Given the description of an element on the screen output the (x, y) to click on. 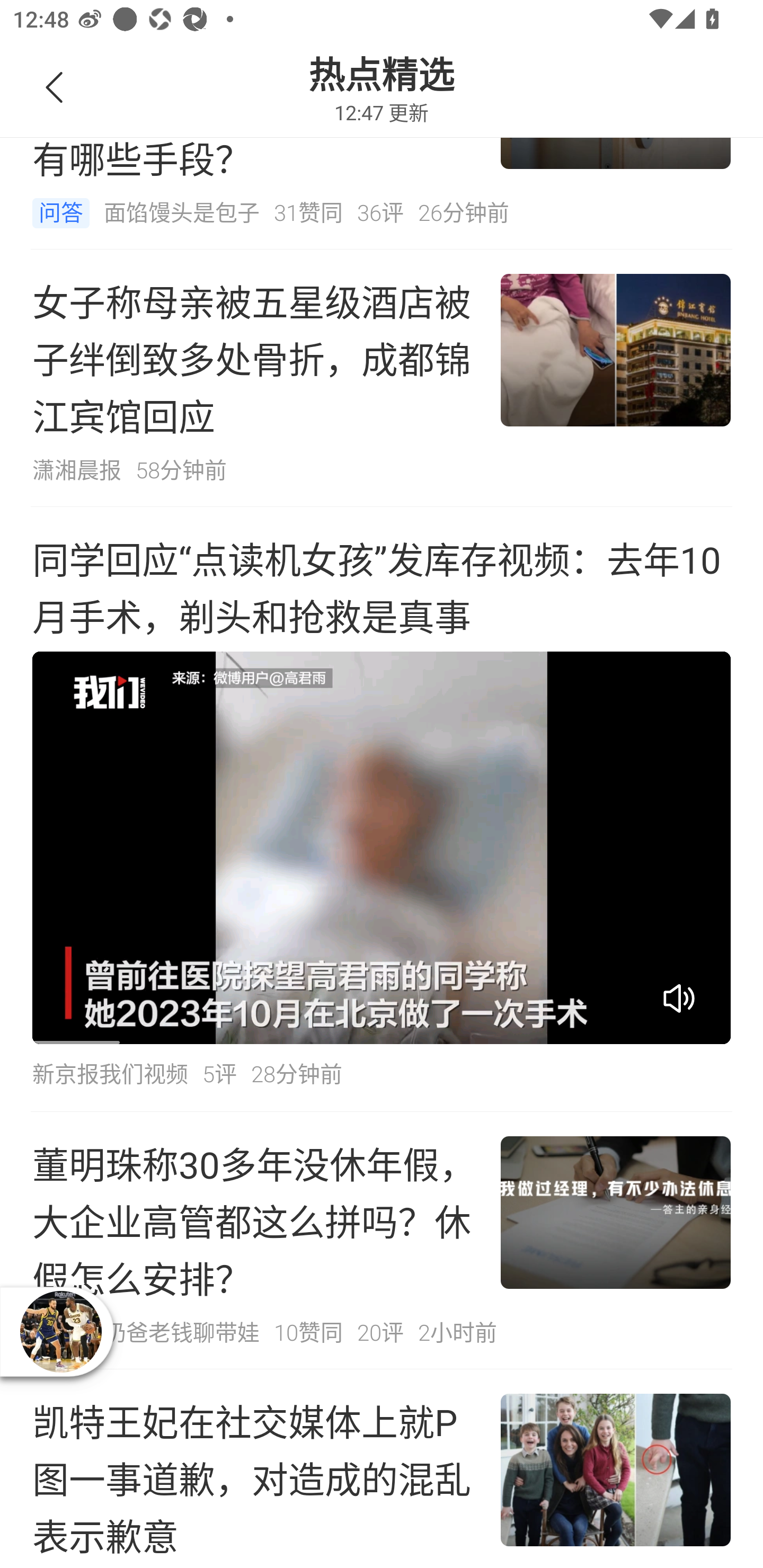
 返回 (54, 87)
女子称母亲被五星级酒店被子绊倒致多处骨折，成都锦江宾馆回应 潇湘晨报 58分钟前 (381, 377)
音量开关 (678, 997)
播放器 (60, 1331)
凯特王妃在社交媒体上就P图一事道歉，对造成的混乱表示歉意 (381, 1468)
